Given the description of an element on the screen output the (x, y) to click on. 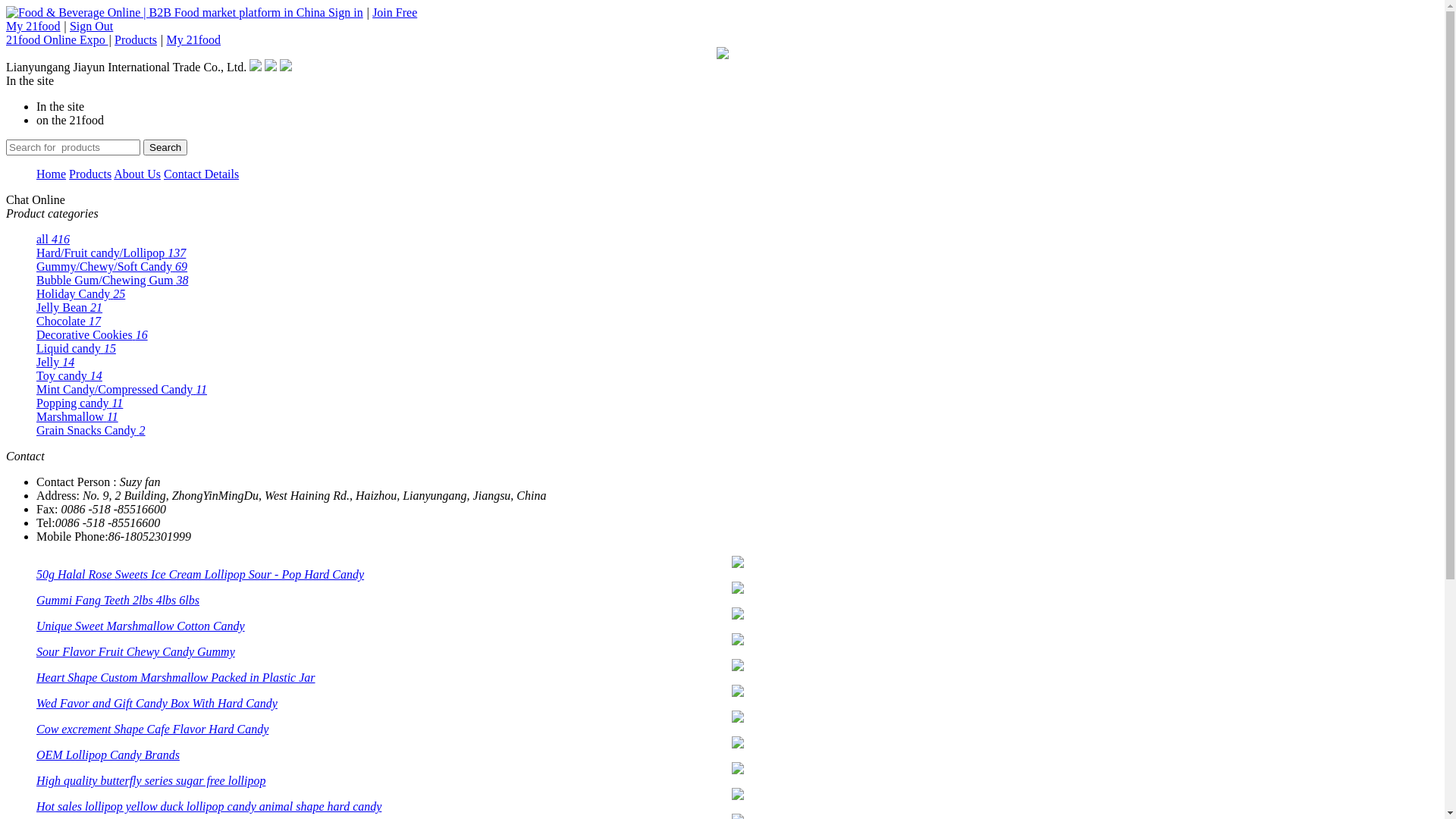
all 416 Element type: text (52, 238)
Products Element type: text (135, 39)
High quality butterfly series sugar free lollipop Element type: text (151, 780)
About Us Element type: text (136, 173)
Home Element type: text (50, 173)
Bubble Gum/Chewing Gum 38 Element type: text (112, 279)
My 21food Element type: text (193, 39)
Grain Snacks Candy 2 Element type: text (90, 429)
Toy candy 14 Element type: text (69, 375)
Holiday Candy 25 Element type: text (80, 293)
Decorative Cookies 16 Element type: text (91, 334)
21food Online Expo Element type: text (57, 39)
Unique Sweet Marshmallow Cotton Candy Element type: text (140, 625)
Join Free Element type: text (394, 12)
OEM Lollipop Candy Brands Element type: text (107, 754)
Mint Candy/Compressed Candy 11 Element type: text (121, 388)
Popping candy 11 Element type: text (79, 402)
Liquid candy 15 Element type: text (76, 348)
Heart Shape Custom Marshmallow Packed in Plastic Jar Element type: text (175, 677)
Search Element type: text (165, 147)
Hard/Fruit candy/Lollipop 137 Element type: text (110, 252)
Sign Out Element type: text (90, 25)
Jelly Bean 21 Element type: text (69, 307)
Contact Details Element type: text (200, 173)
Chocolate 17 Element type: text (68, 320)
Sour Flavor Fruit Chewy Candy Gummy Element type: text (135, 651)
Marshmallow 11 Element type: text (77, 416)
My 21food Element type: text (33, 25)
Jelly 14 Element type: text (55, 361)
Products Element type: text (90, 173)
Wed Favor and Gift Candy Box With Hard Candy Element type: text (156, 702)
Gummi Fang Teeth 2lbs 4lbs 6lbs Element type: text (117, 599)
Sign in Element type: text (345, 12)
Cow excrement Shape Cafe Flavor Hard Candy Element type: text (152, 728)
Gummy/Chewy/Soft Candy 69 Element type: text (111, 266)
